Given the description of an element on the screen output the (x, y) to click on. 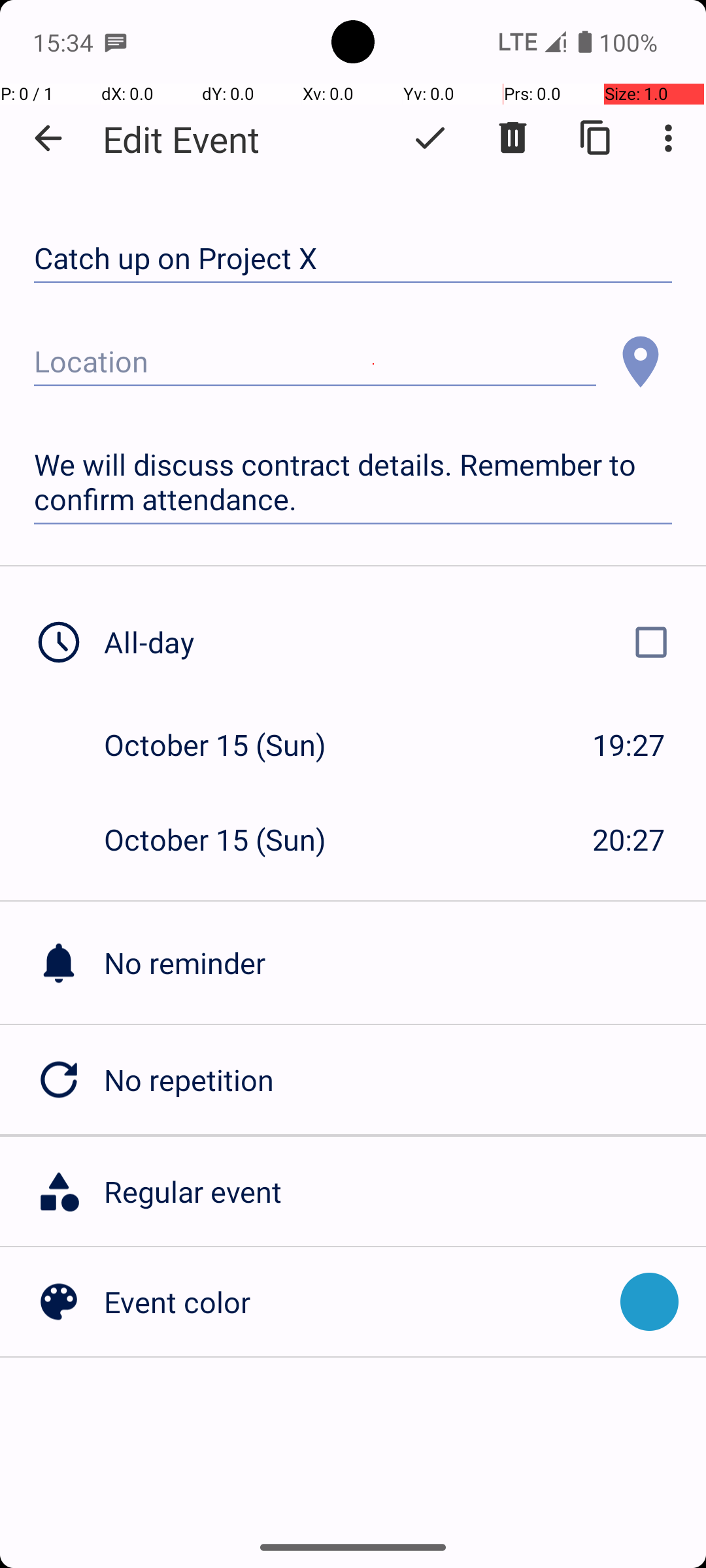
We will discuss contract details. Remember to confirm attendance. Element type: android.widget.EditText (352, 482)
19:27 Element type: android.widget.TextView (628, 744)
20:27 Element type: android.widget.TextView (628, 838)
